Given the description of an element on the screen output the (x, y) to click on. 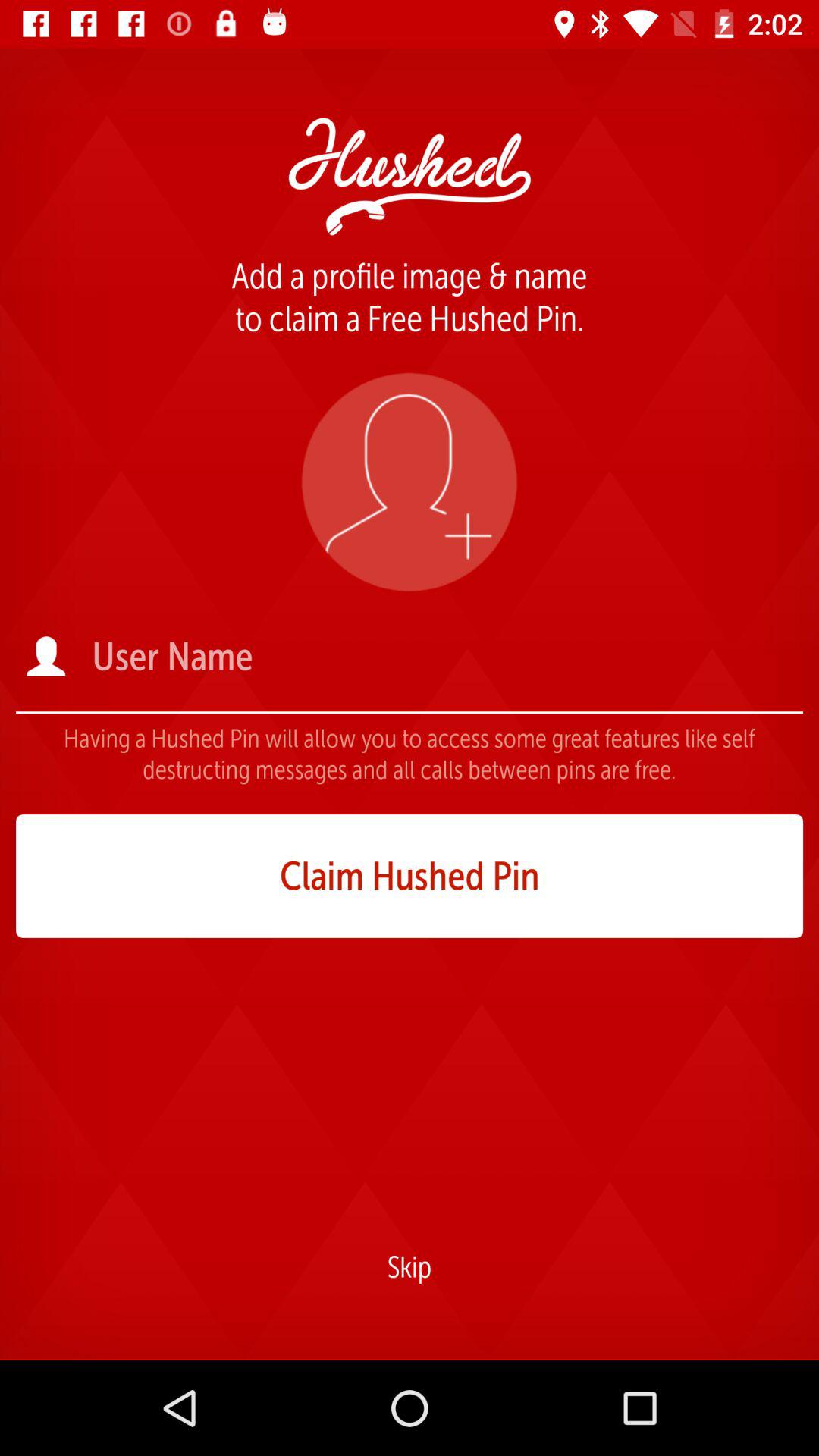
select the icon below the add a profile item (408, 481)
